Given the description of an element on the screen output the (x, y) to click on. 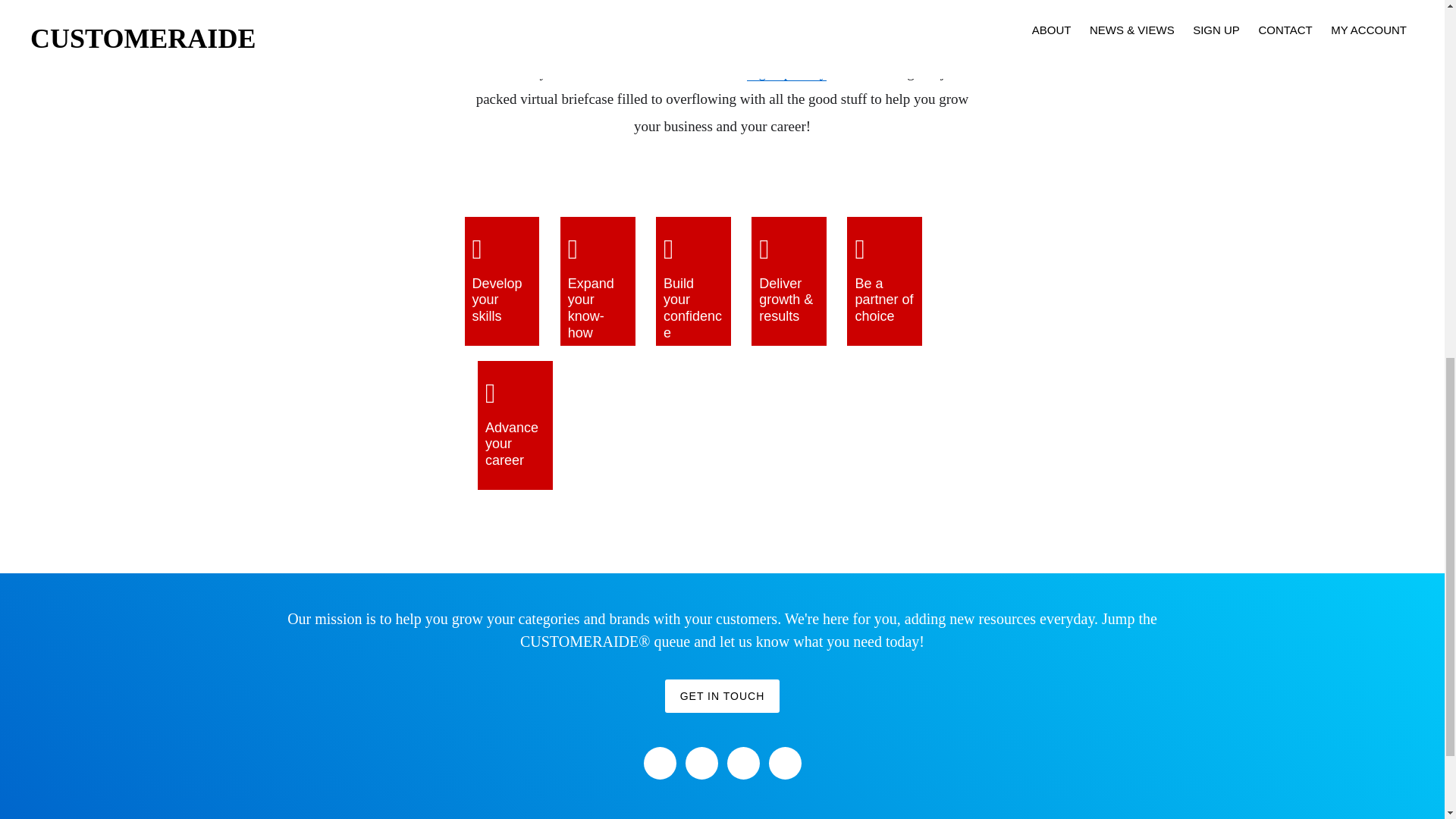
Sign up today (786, 72)
Aide Online (836, 36)
HELP ON DEMAND (548, 61)
GET IN TOUCH (722, 695)
SIGN UP (631, 61)
PRIVACY (791, 61)
